Given the description of an element on the screen output the (x, y) to click on. 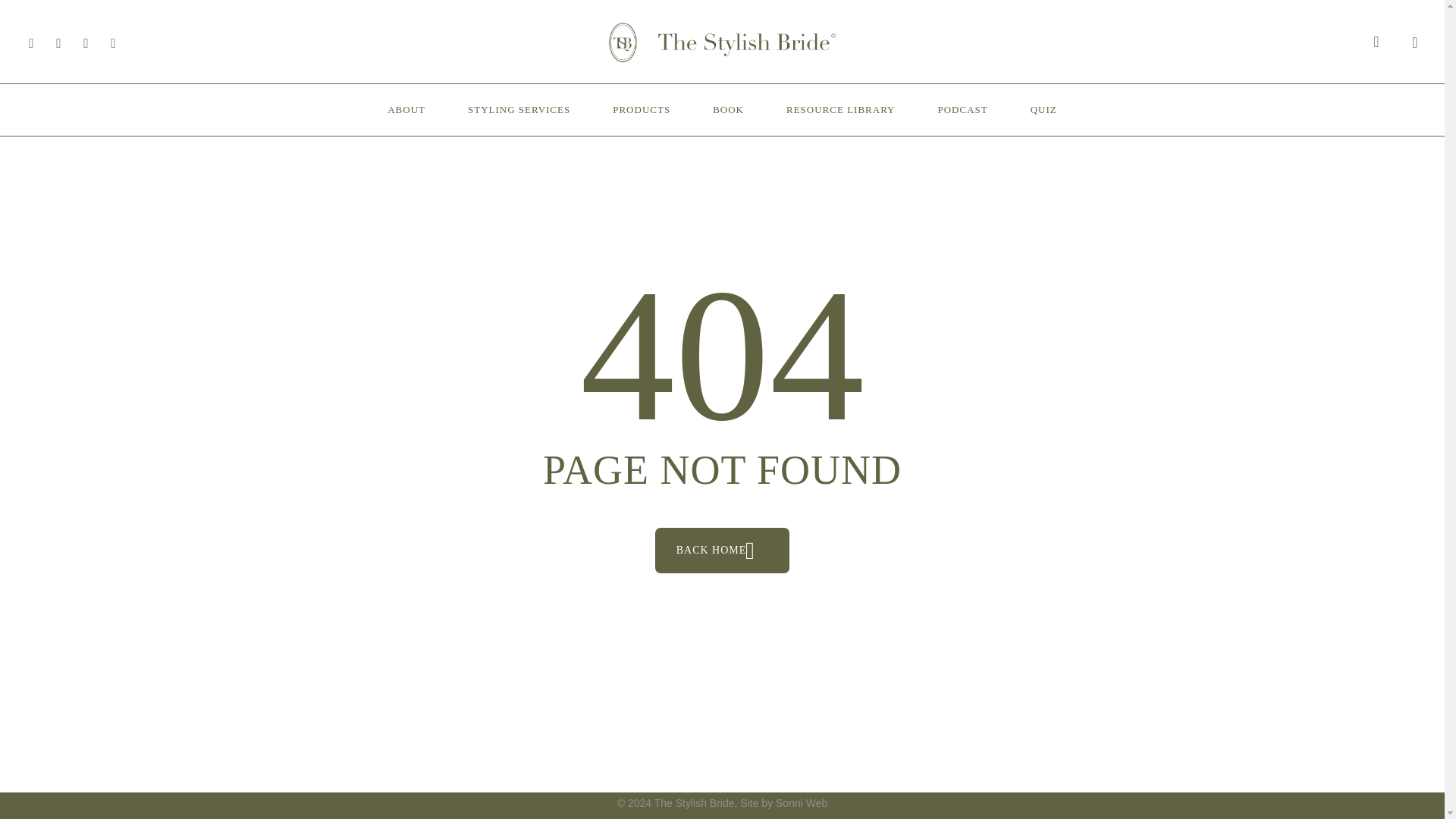
PRODUCTS (640, 109)
QUIZ (1043, 109)
PINTEREST (58, 41)
EMAIL (114, 41)
INSTAGRAM (86, 41)
search (1376, 41)
STYLING SERVICES (518, 109)
BACK HOME (722, 550)
FACEBOOK (31, 41)
ABOUT (406, 109)
